Given the description of an element on the screen output the (x, y) to click on. 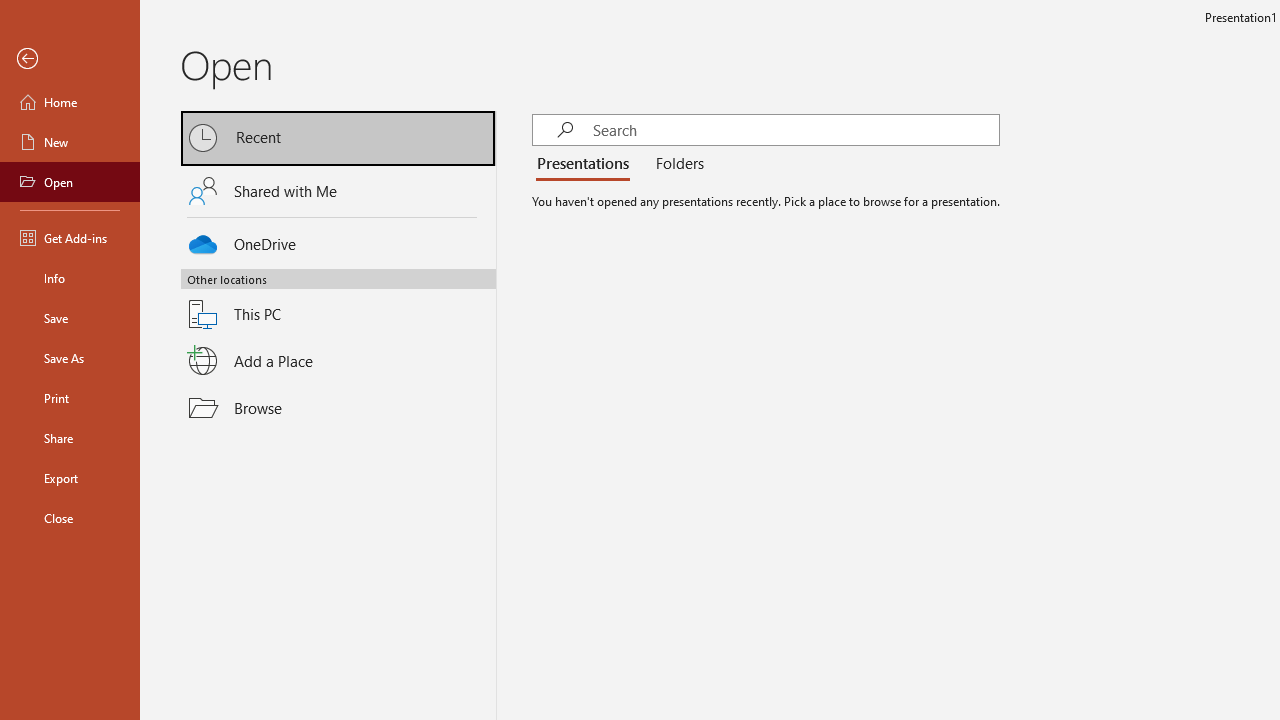
Save As (69, 357)
Recent (338, 138)
Print (69, 398)
Export (69, 477)
